Given the description of an element on the screen output the (x, y) to click on. 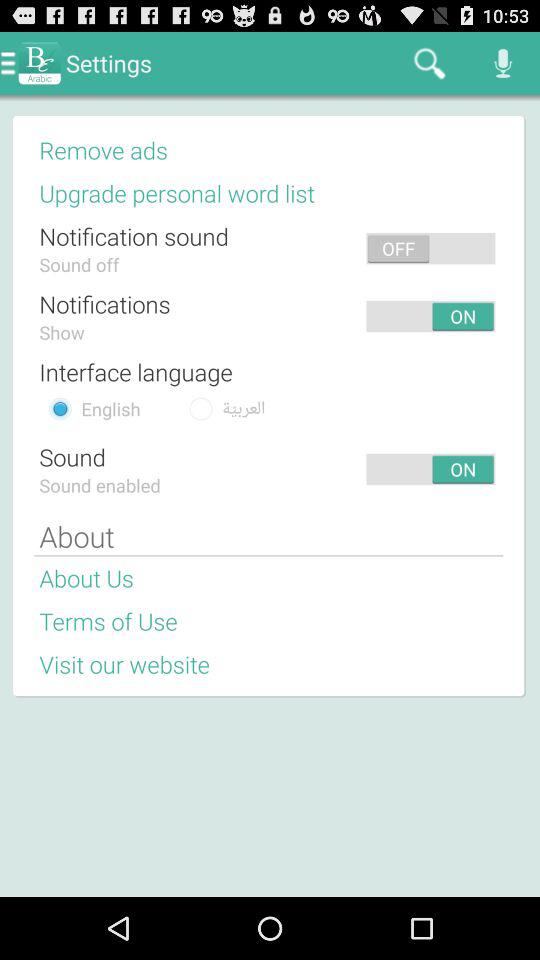
select preferred language (60, 408)
